Given the description of an element on the screen output the (x, y) to click on. 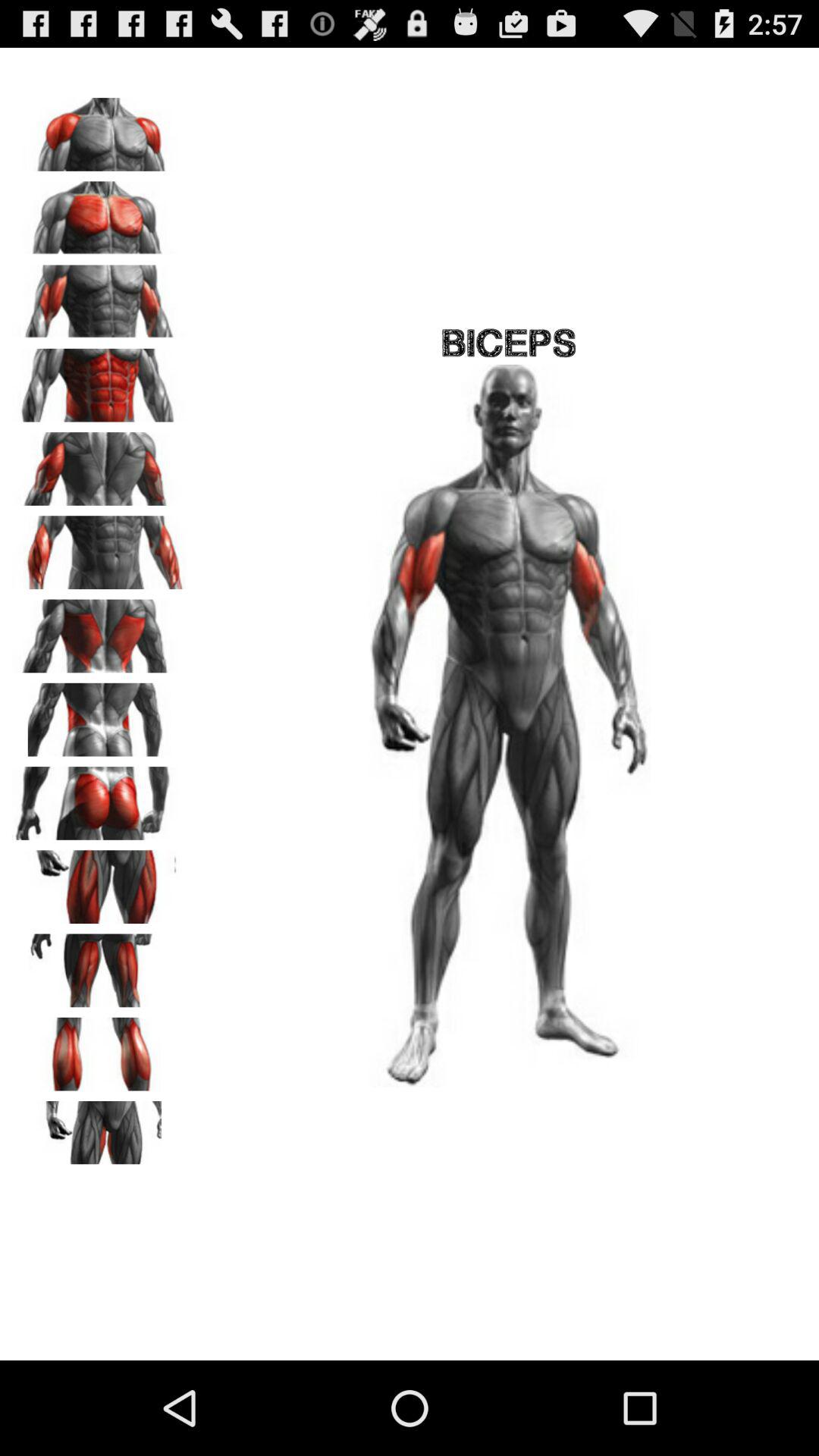
select deltiods (99, 129)
